Given the description of an element on the screen output the (x, y) to click on. 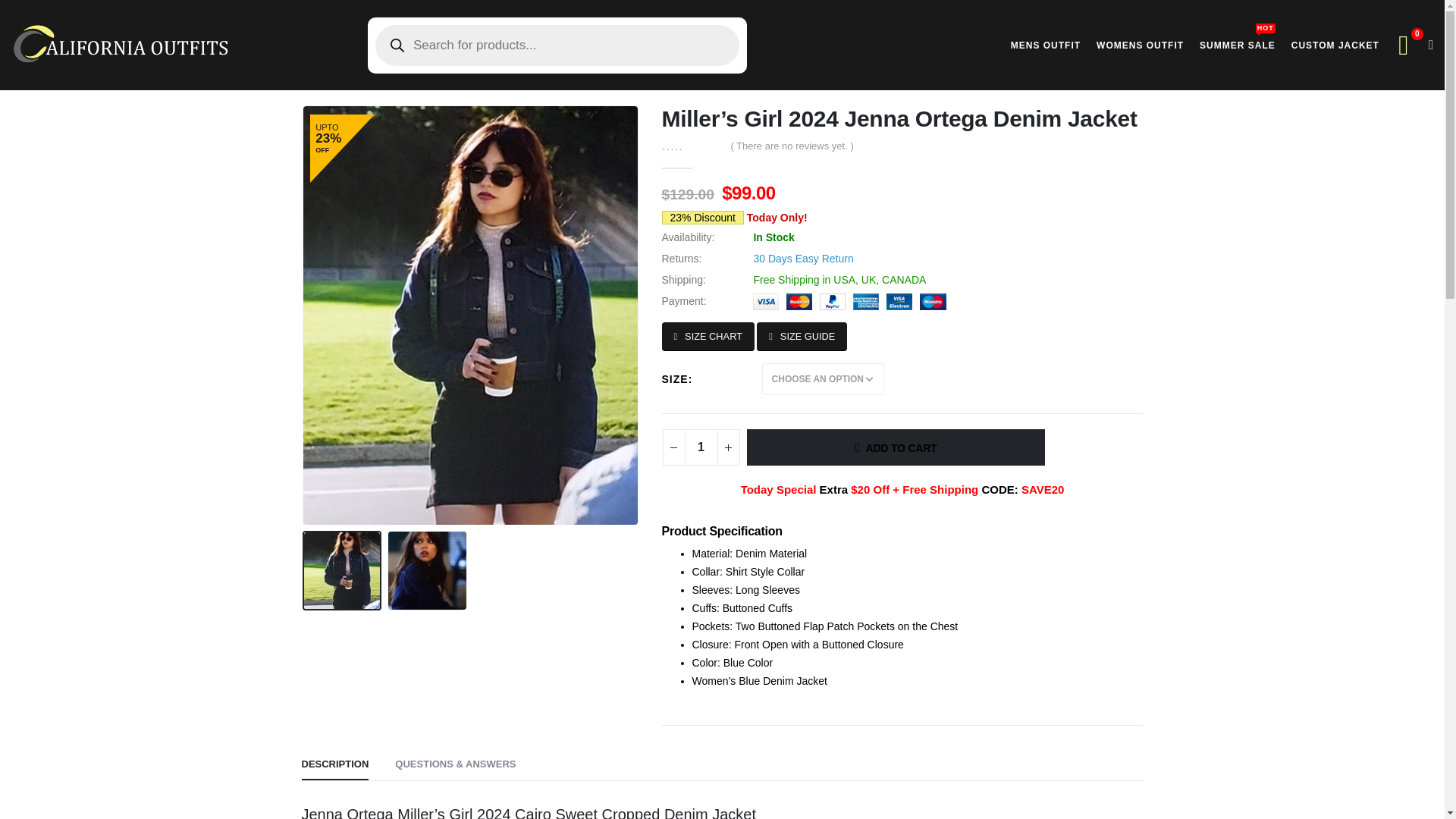
WOMENS OUTFIT (1140, 45)
SIZE GUIDE (802, 336)
ADD TO CART (895, 447)
Size Guide (802, 336)
MENS OUTFIT (1045, 45)
Size Chart (707, 336)
Qty (1237, 45)
SIZE CHART (700, 447)
CUSTOM JACKET (707, 336)
1 (1335, 45)
